Given the description of an element on the screen output the (x, y) to click on. 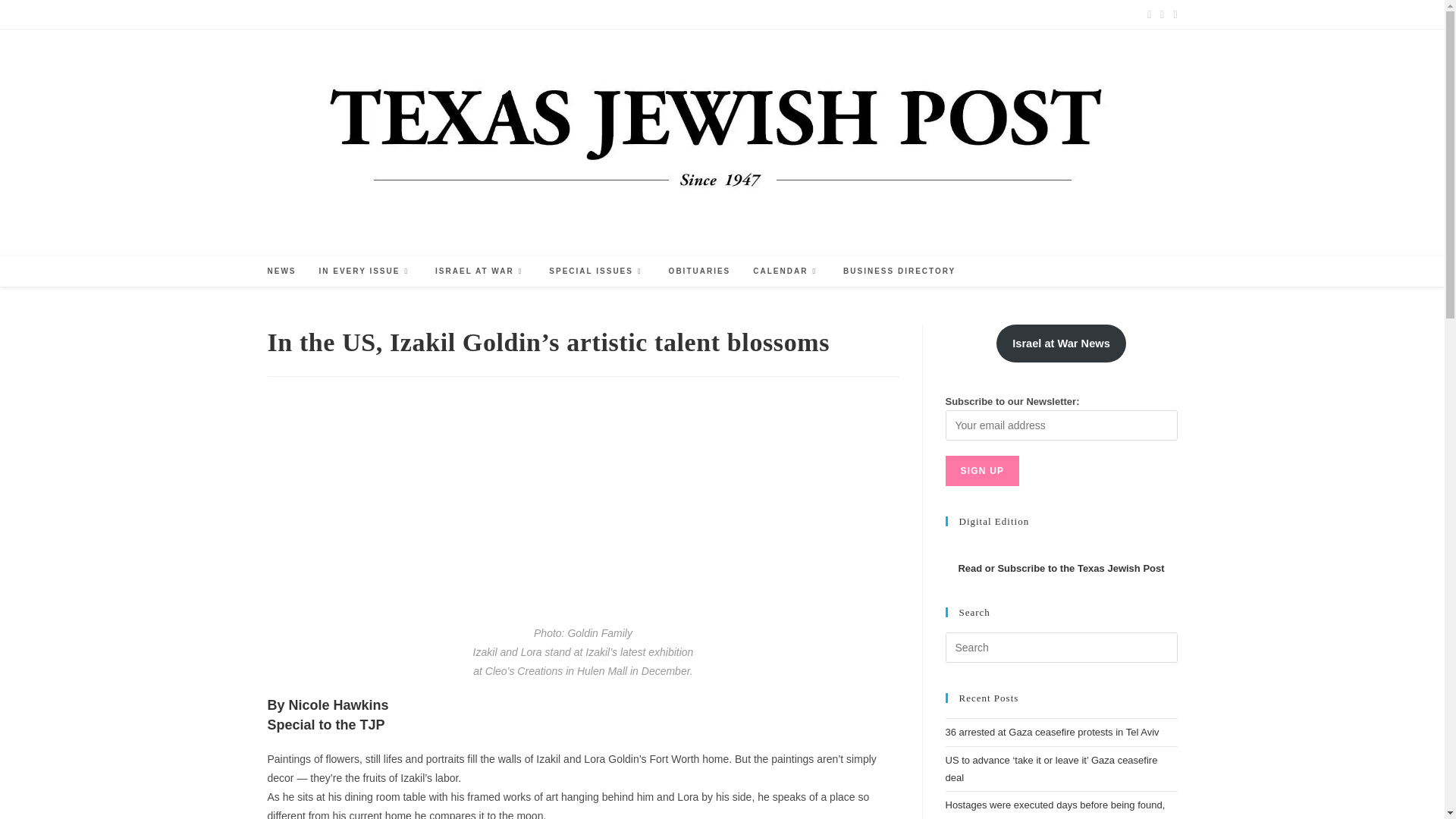
Advertise (285, 13)
ISRAEL AT WAR (480, 271)
CALENDAR (786, 271)
Subscribe (336, 13)
Synagogues (527, 13)
Read or Subscribe to the Texas Jewish Post e-Edition (1060, 568)
Sign up (981, 470)
BUSINESS DIRECTORY (898, 271)
SPECIAL ISSUES (596, 271)
IN EVERY ISSUE (366, 271)
